Given the description of an element on the screen output the (x, y) to click on. 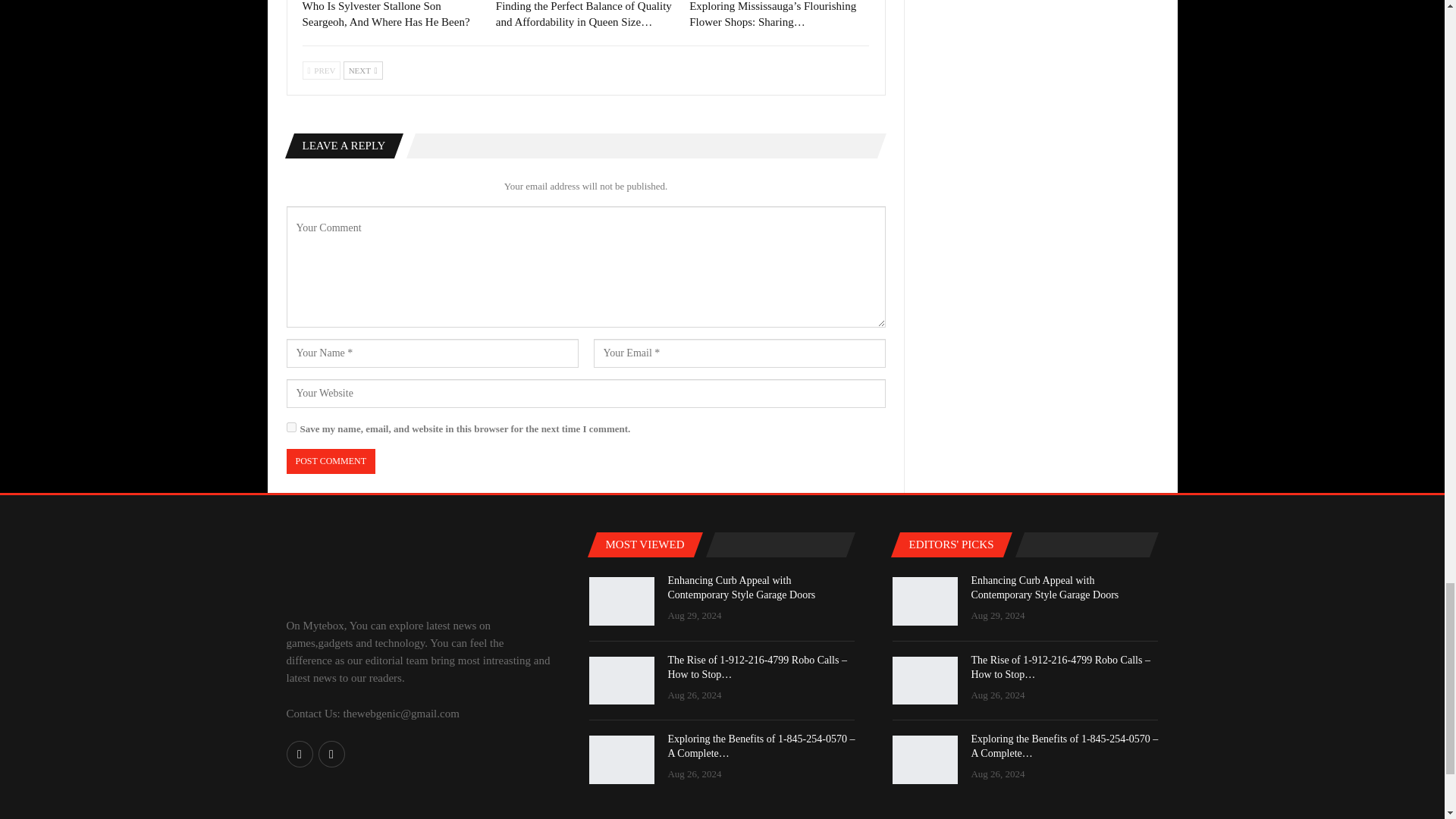
Post Comment (330, 461)
yes (291, 427)
